Given the description of an element on the screen output the (x, y) to click on. 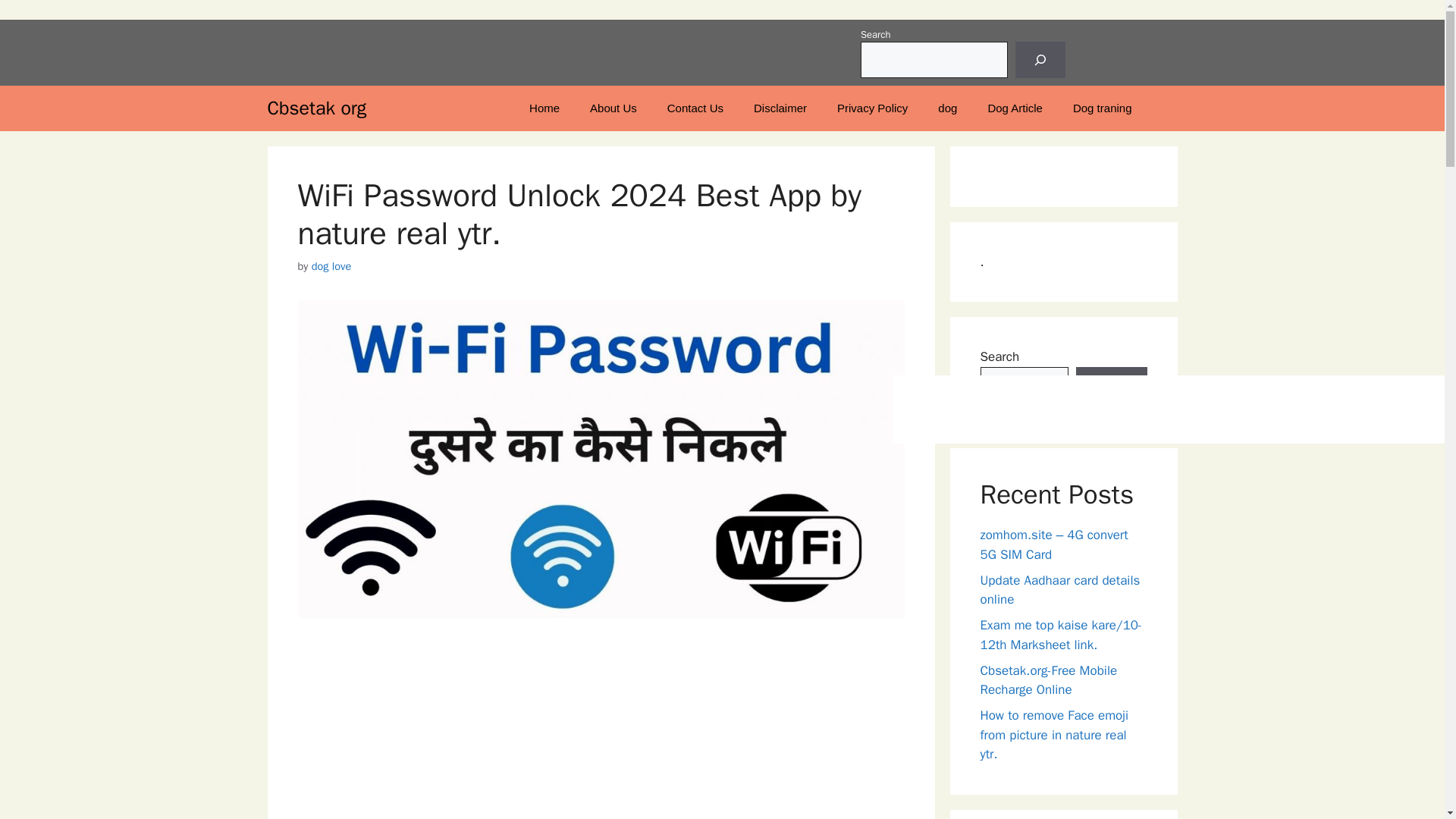
Disclaimer (780, 107)
dog (947, 107)
Dog Article (1015, 107)
Dog traning (1102, 107)
View all posts by dog love (330, 265)
About Us (613, 107)
Privacy Policy (872, 107)
Update Aadhaar card details online (1059, 589)
Contact Us (695, 107)
Cbsetak org (316, 107)
